Given the description of an element on the screen output the (x, y) to click on. 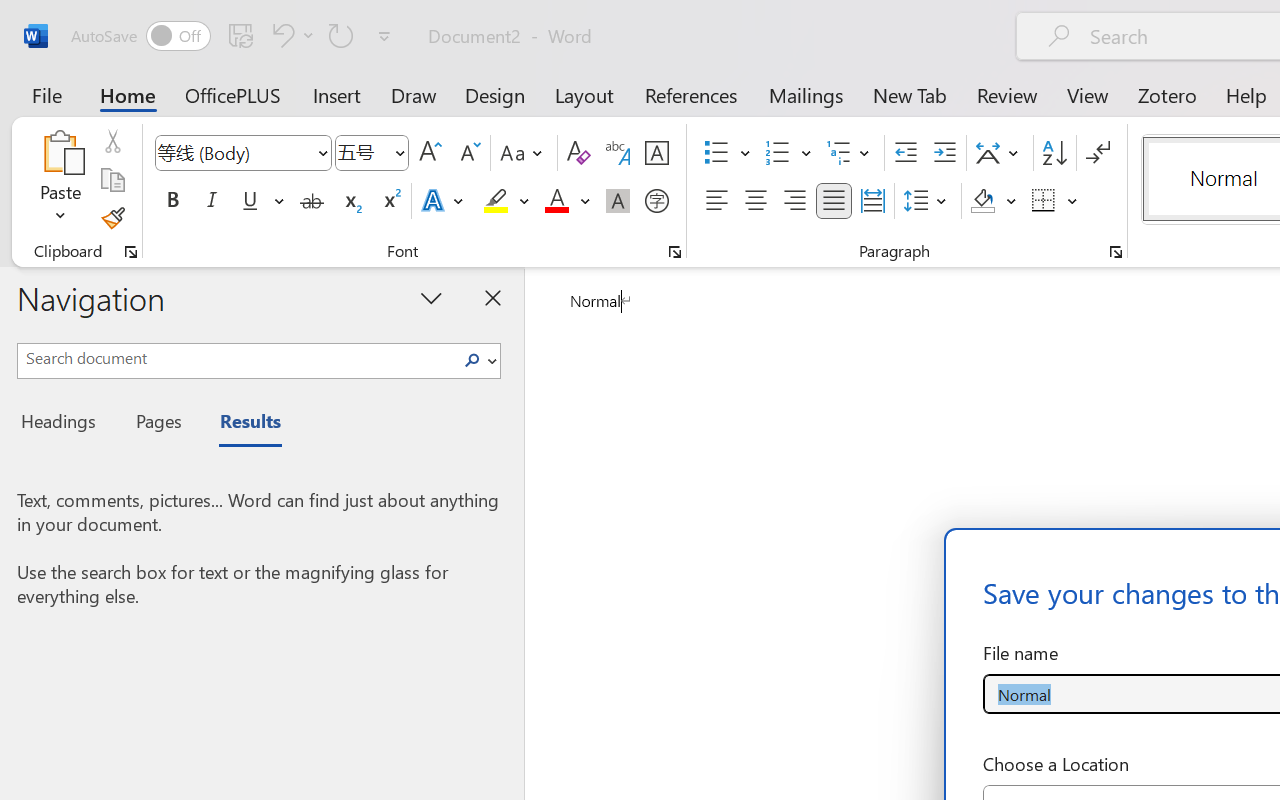
Sort... (1054, 153)
Repeat Style (341, 35)
Text Highlight Color Yellow (495, 201)
New Tab (909, 94)
Quick Access Toolbar (233, 36)
Results (240, 424)
Character Border (656, 153)
Align Right (794, 201)
Shading (993, 201)
Grow Font (430, 153)
Layout (584, 94)
